Given the description of an element on the screen output the (x, y) to click on. 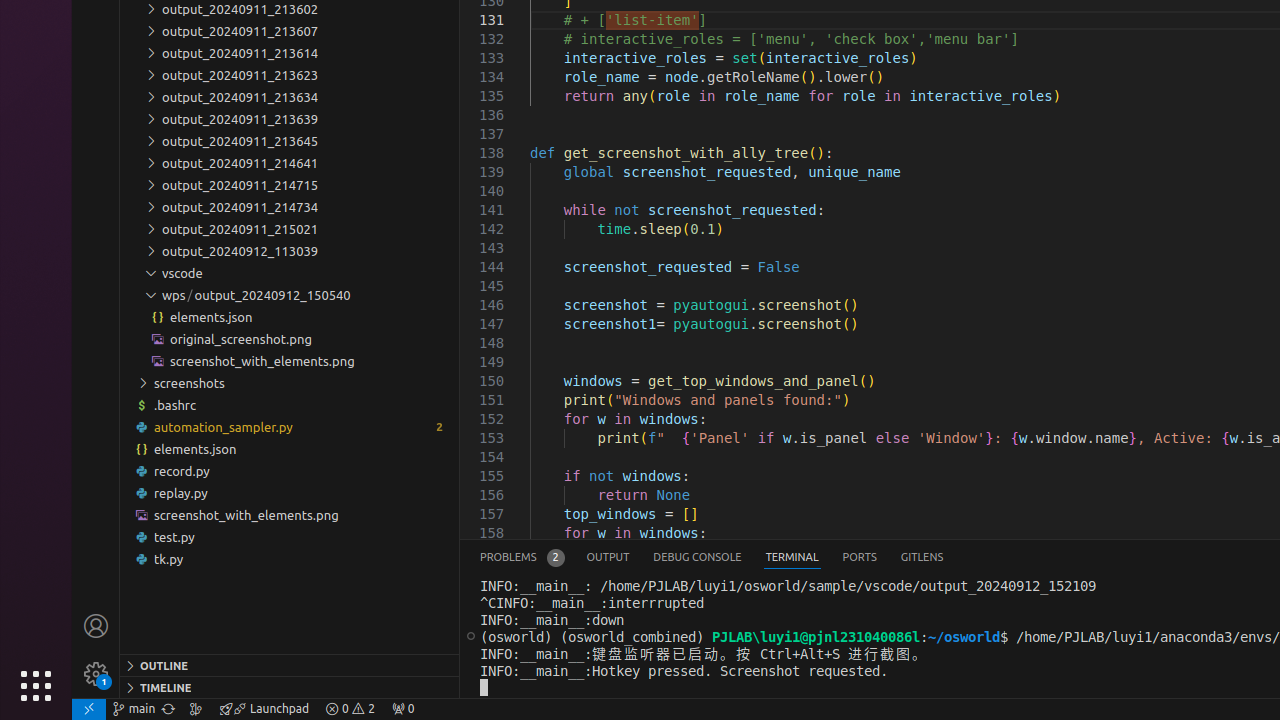
wps Element type: tree-item (178, 295)
output_20240911_213614 Element type: tree-item (289, 53)
output_20240911_213623 Element type: tree-item (289, 75)
Problems (Ctrl+Shift+M) - Total 2 Problems Element type: page-tab (521, 557)
Accounts Element type: push-button (96, 626)
